Given the description of an element on the screen output the (x, y) to click on. 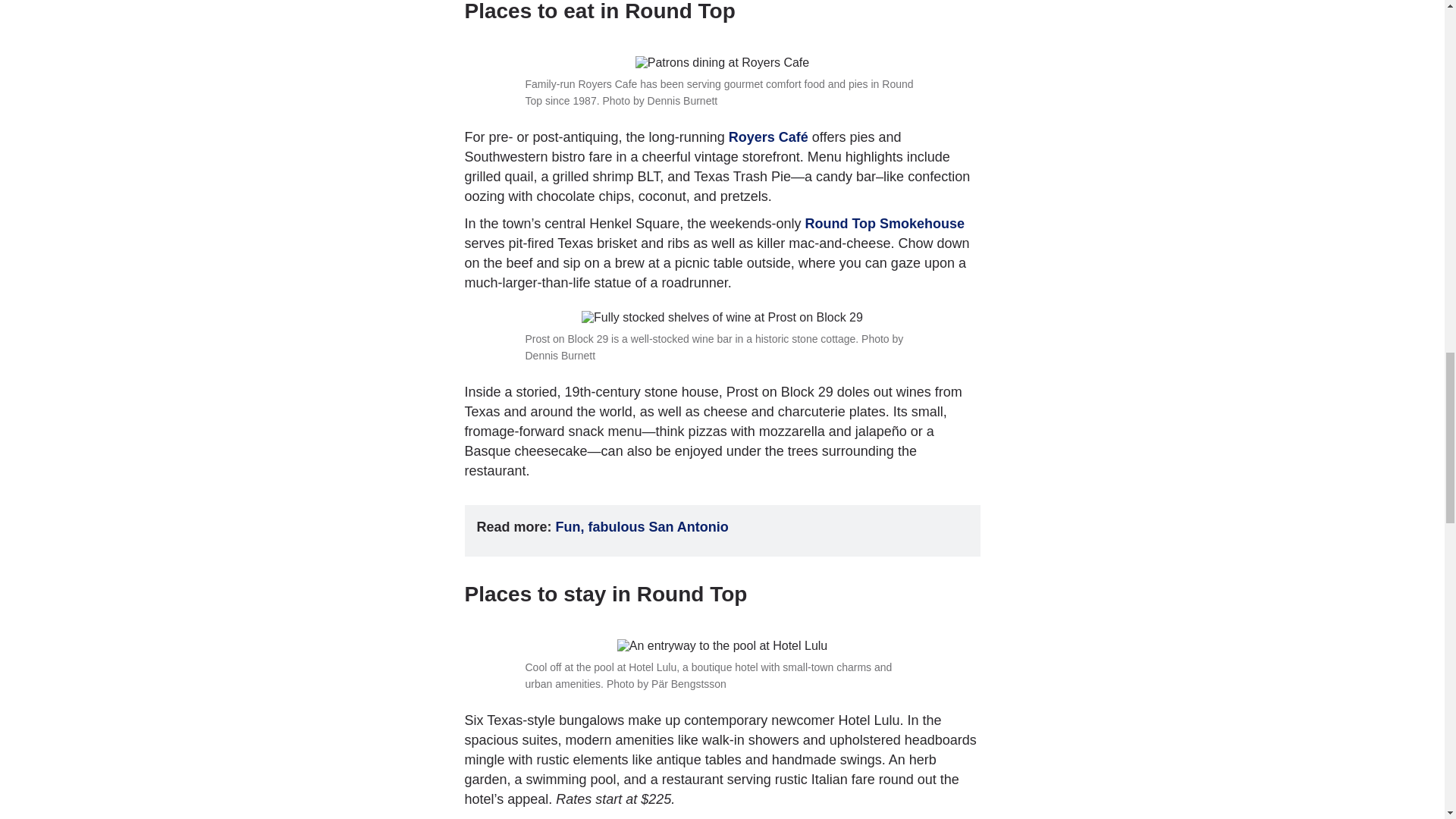
Royers Cafe (768, 136)
Fun, fabulous San Antonio (642, 526)
Round Top Smokehouse (884, 223)
